Given the description of an element on the screen output the (x, y) to click on. 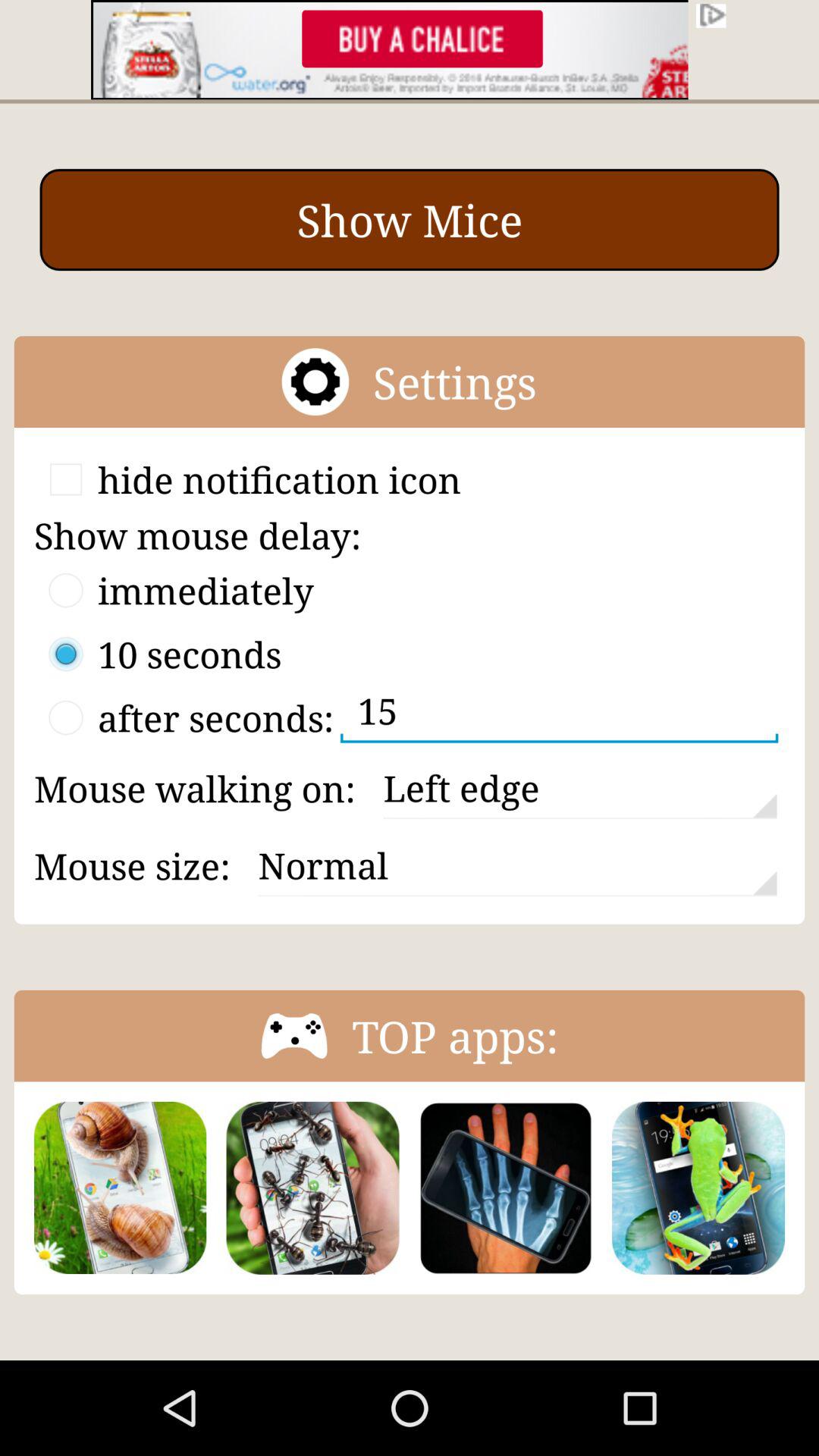
go to the advertised site (409, 49)
